Given the description of an element on the screen output the (x, y) to click on. 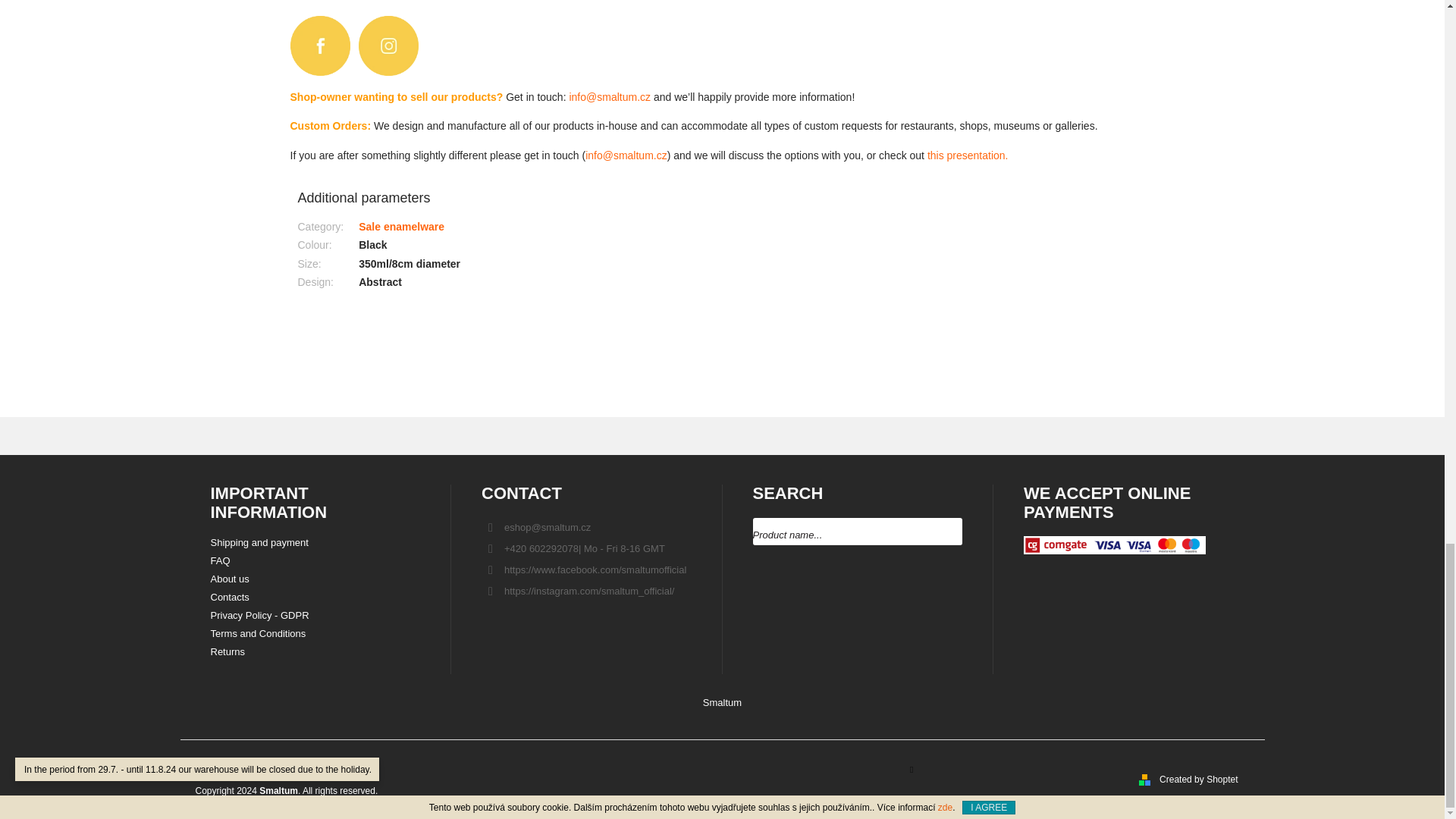
Facebook (594, 569)
Phone (584, 548)
Instagram (588, 591)
